Given the description of an element on the screen output the (x, y) to click on. 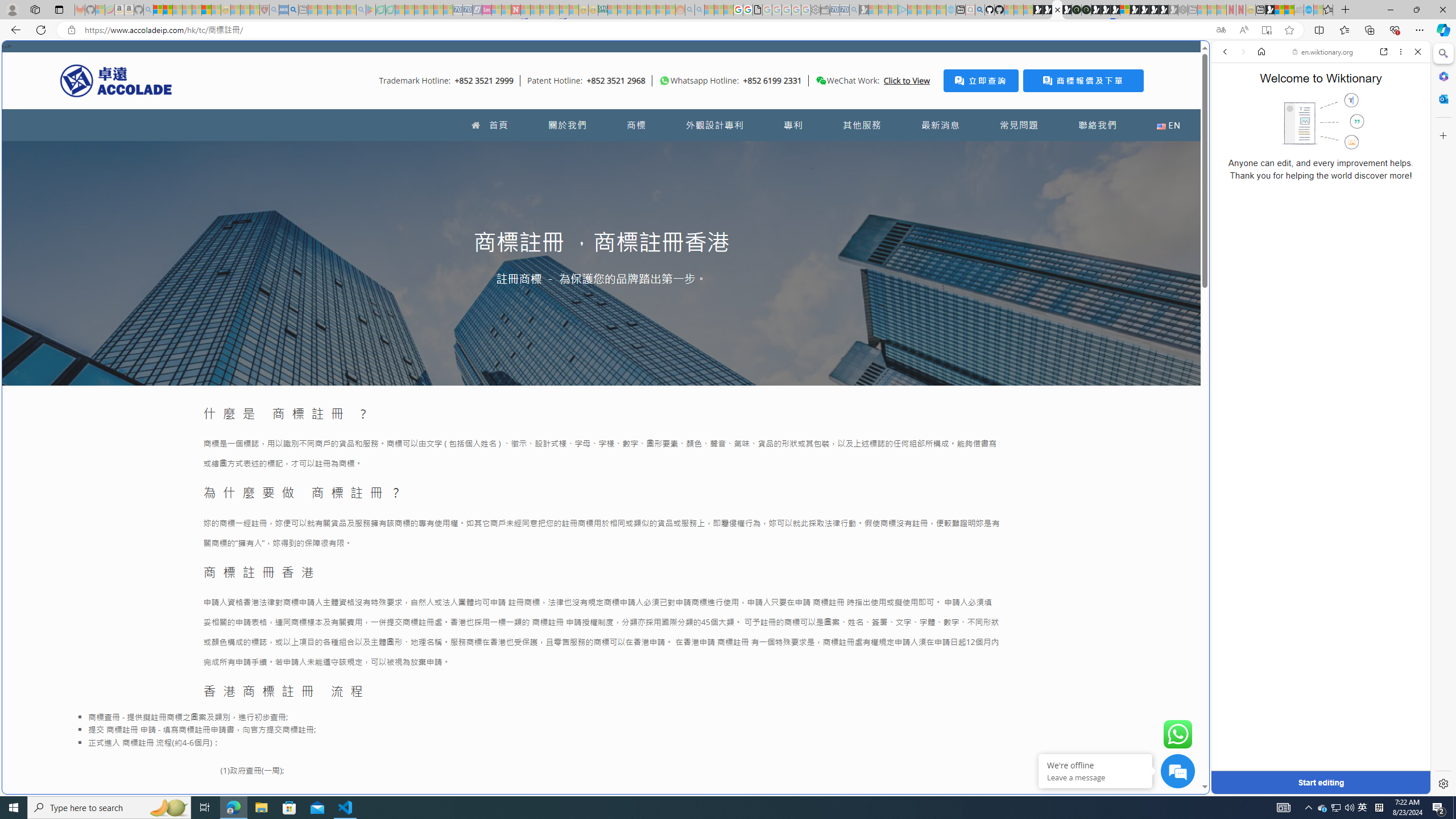
Wallet - Sleeping (824, 9)
Search Filter, Search Tools (1350, 129)
Search or enter web address (922, 108)
Utah sues federal government - Search - Sleeping (699, 9)
Search Filter, VIDEOS (1300, 129)
